Given the description of an element on the screen output the (x, y) to click on. 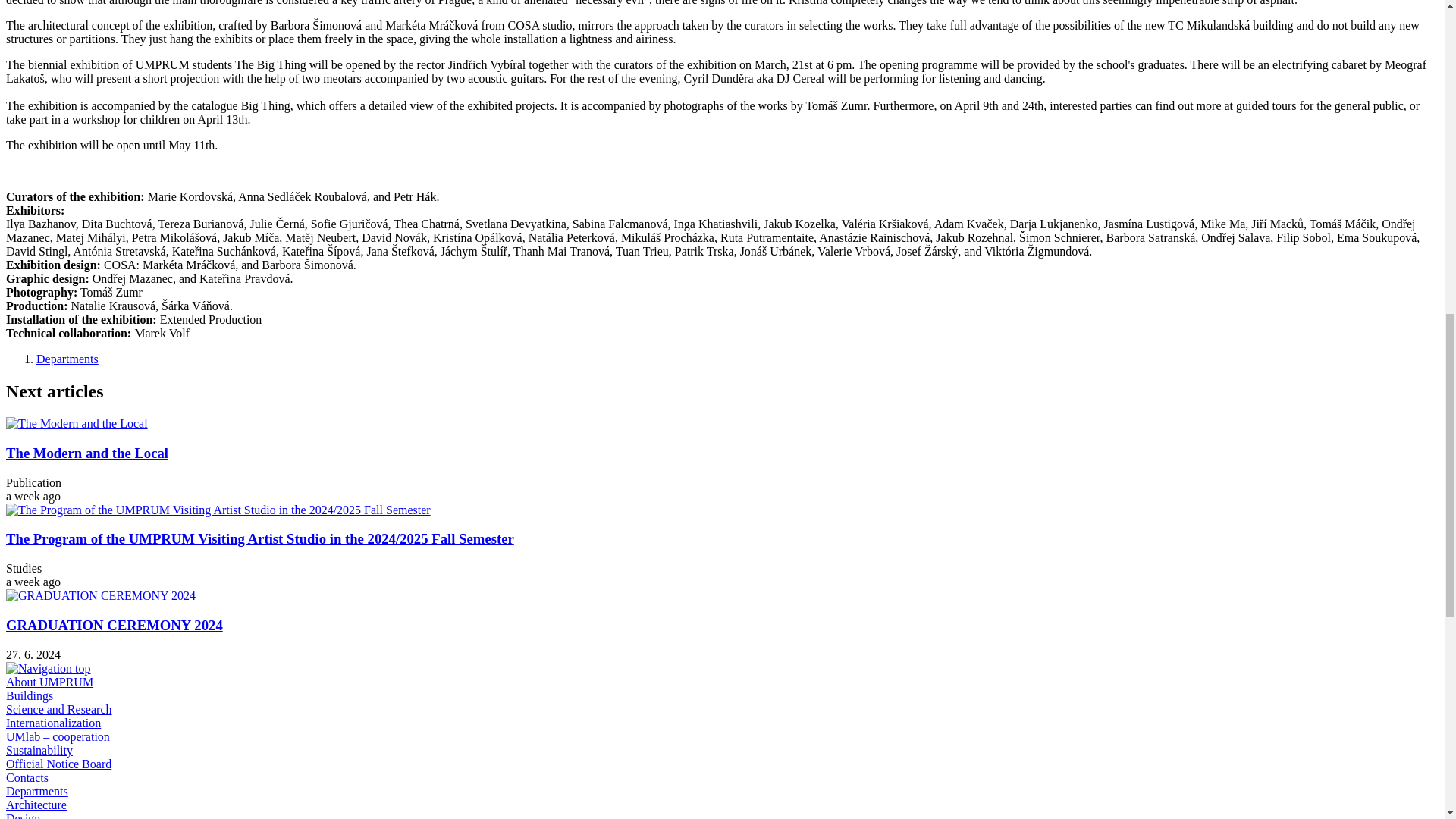
The Modern and the Local (76, 422)
The Modern and the Local (86, 453)
